Given the description of an element on the screen output the (x, y) to click on. 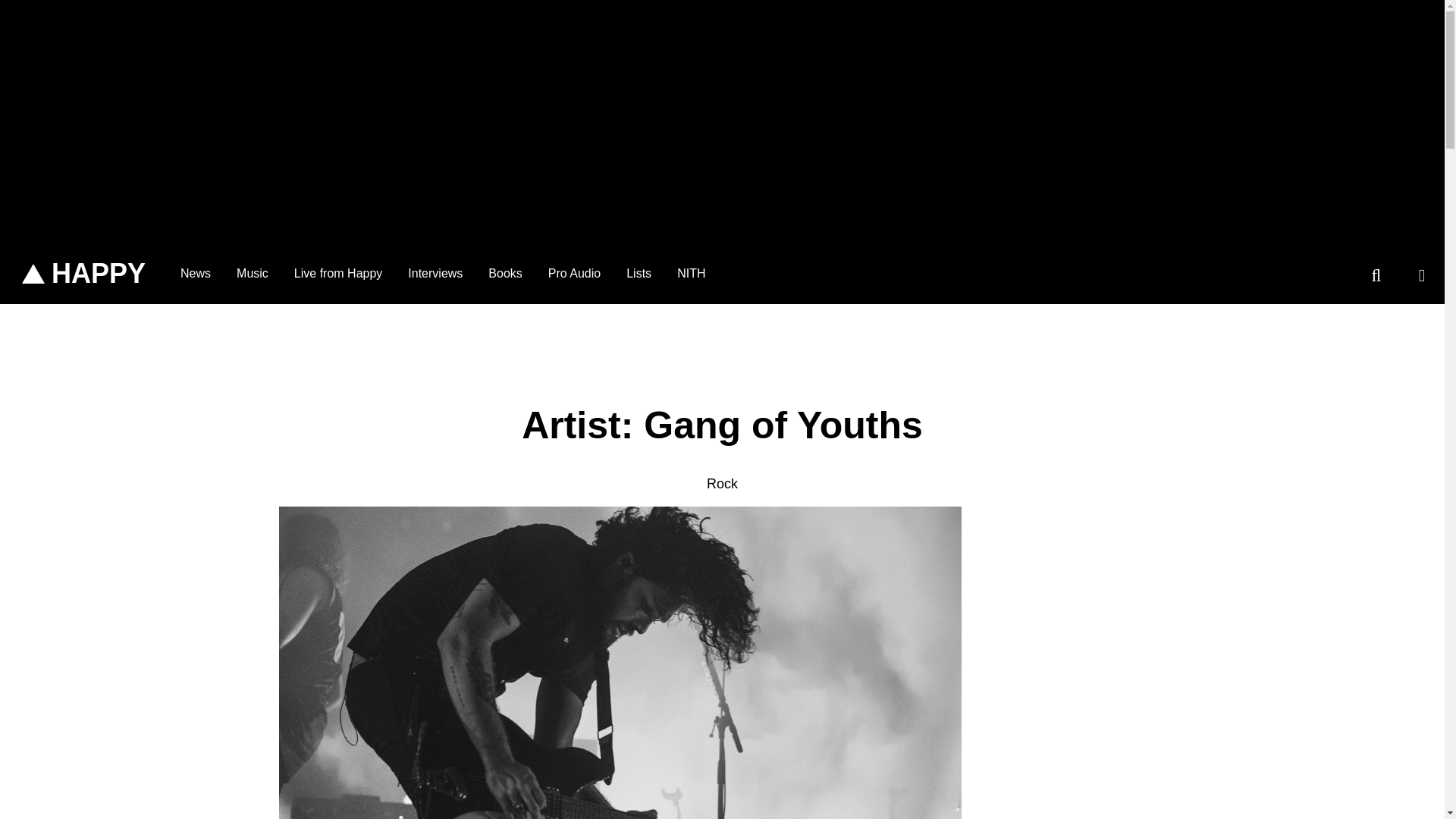
News (195, 273)
Music (252, 273)
Pro Audio (573, 273)
HAPPY (83, 273)
Live from Happy (338, 273)
Books (505, 273)
News (195, 273)
Interviews (435, 273)
